Given the description of an element on the screen output the (x, y) to click on. 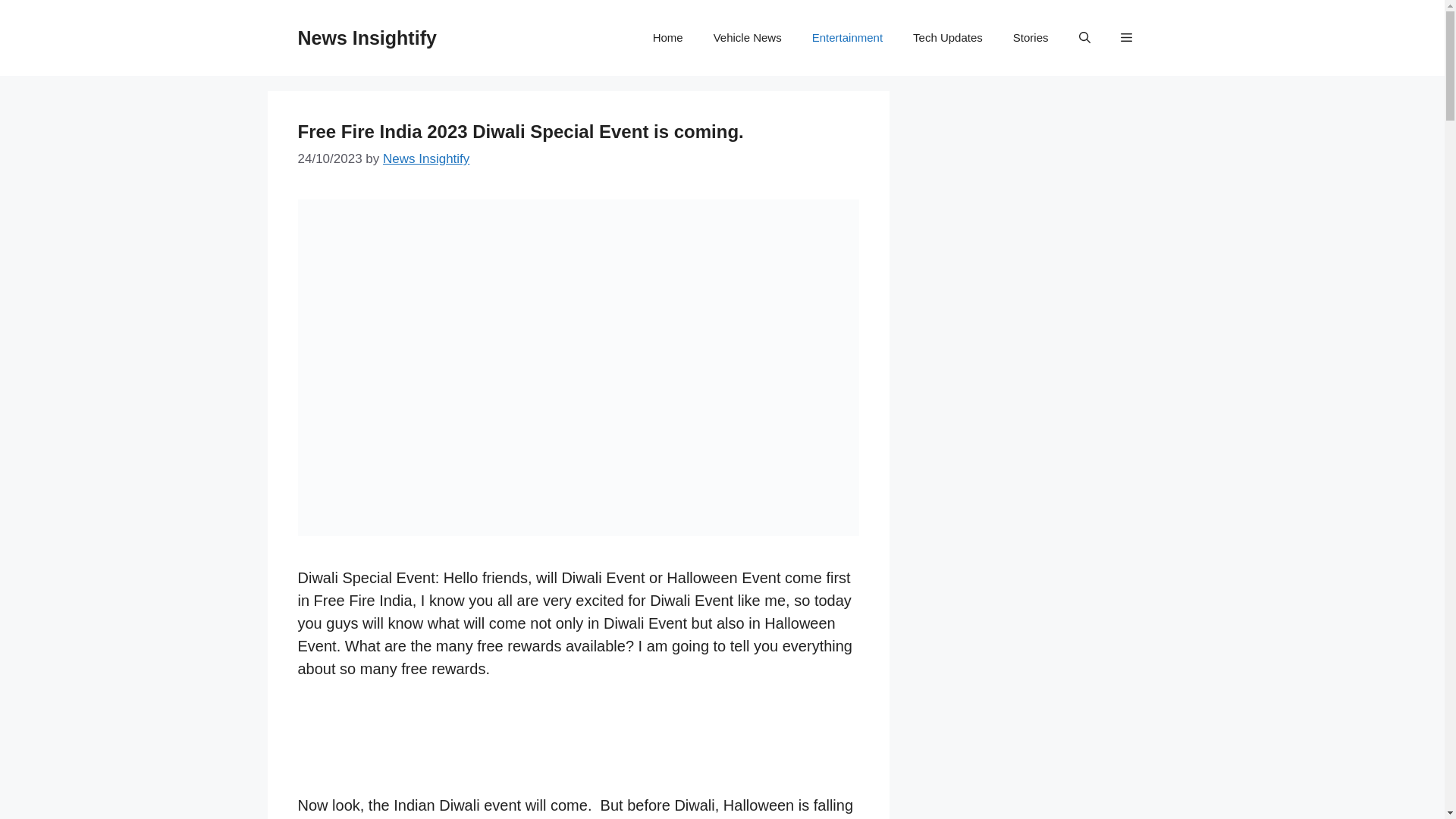
News Insightify (425, 158)
News Insightify (366, 37)
Tech Updates (947, 37)
View all posts by News Insightify (425, 158)
Vehicle News (747, 37)
Entertainment (847, 37)
Home (667, 37)
Stories (1030, 37)
